Given the description of an element on the screen output the (x, y) to click on. 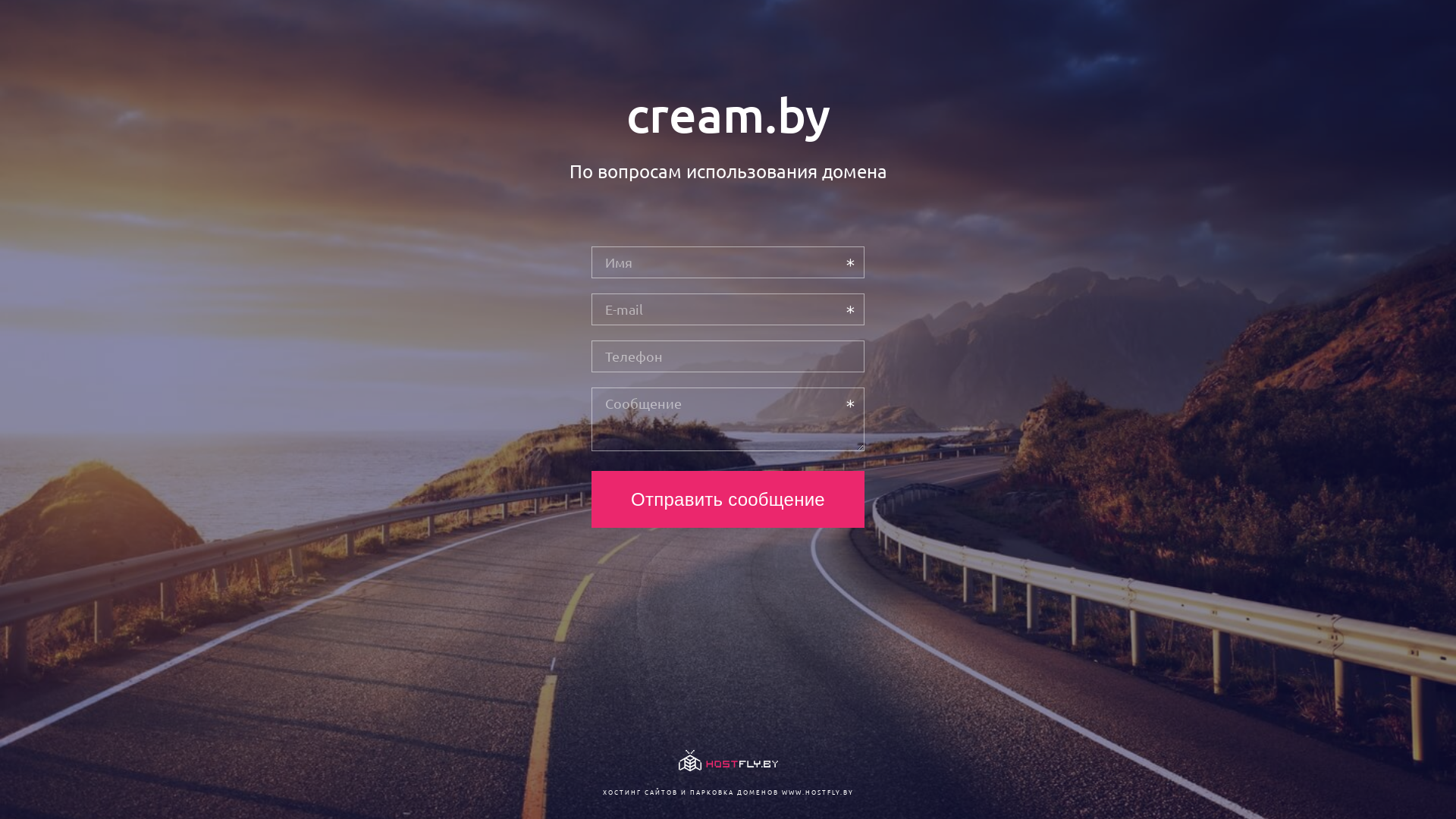
WWW.HOSTFLY.BY Element type: text (817, 791)
